Given the description of an element on the screen output the (x, y) to click on. 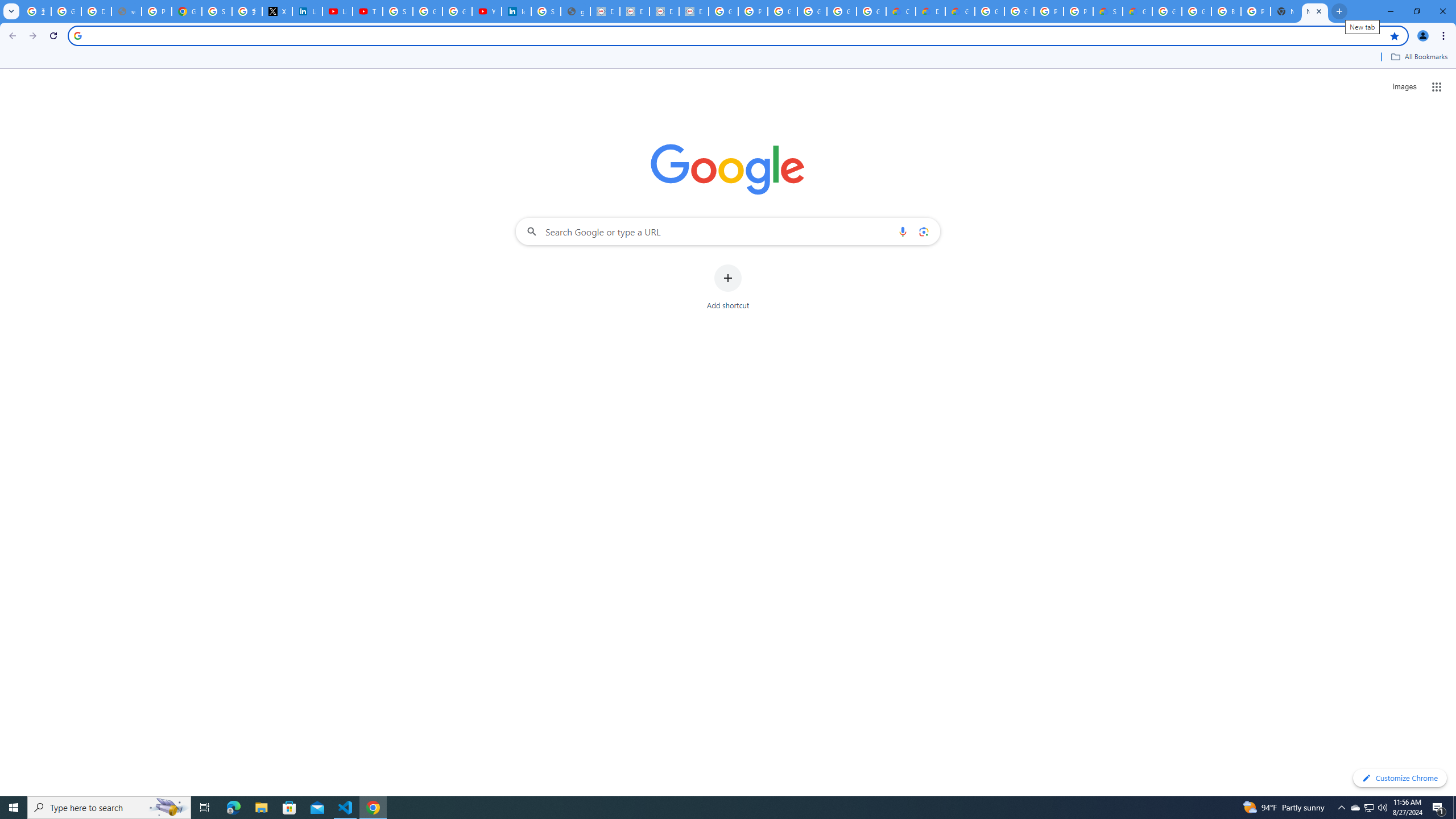
Search for Images  (1403, 87)
Google Workspace - Specific Terms (841, 11)
support.google.com - Network error (126, 11)
